Given the description of an element on the screen output the (x, y) to click on. 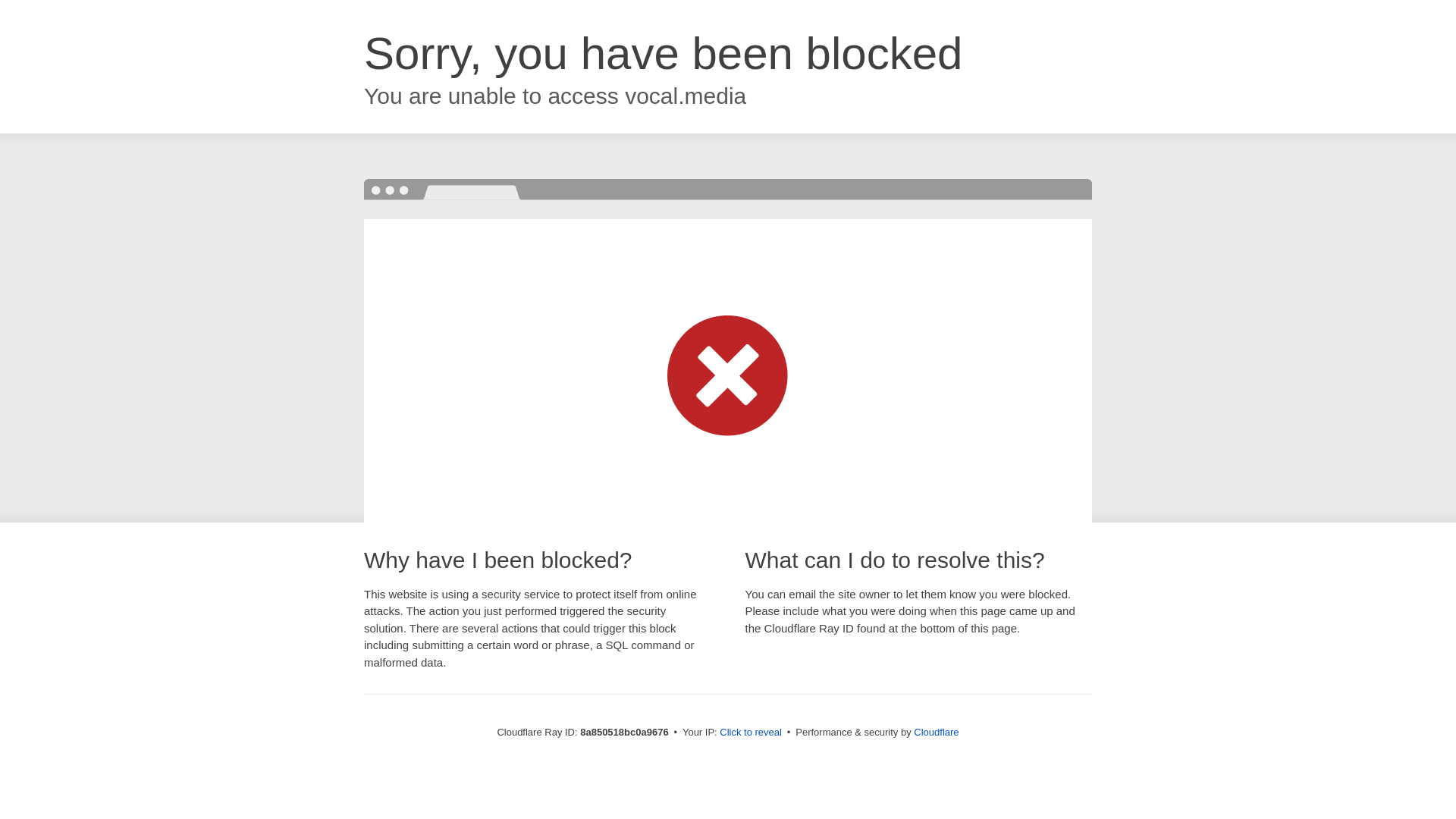
Click to reveal (750, 732)
Cloudflare (936, 731)
